Given the description of an element on the screen output the (x, y) to click on. 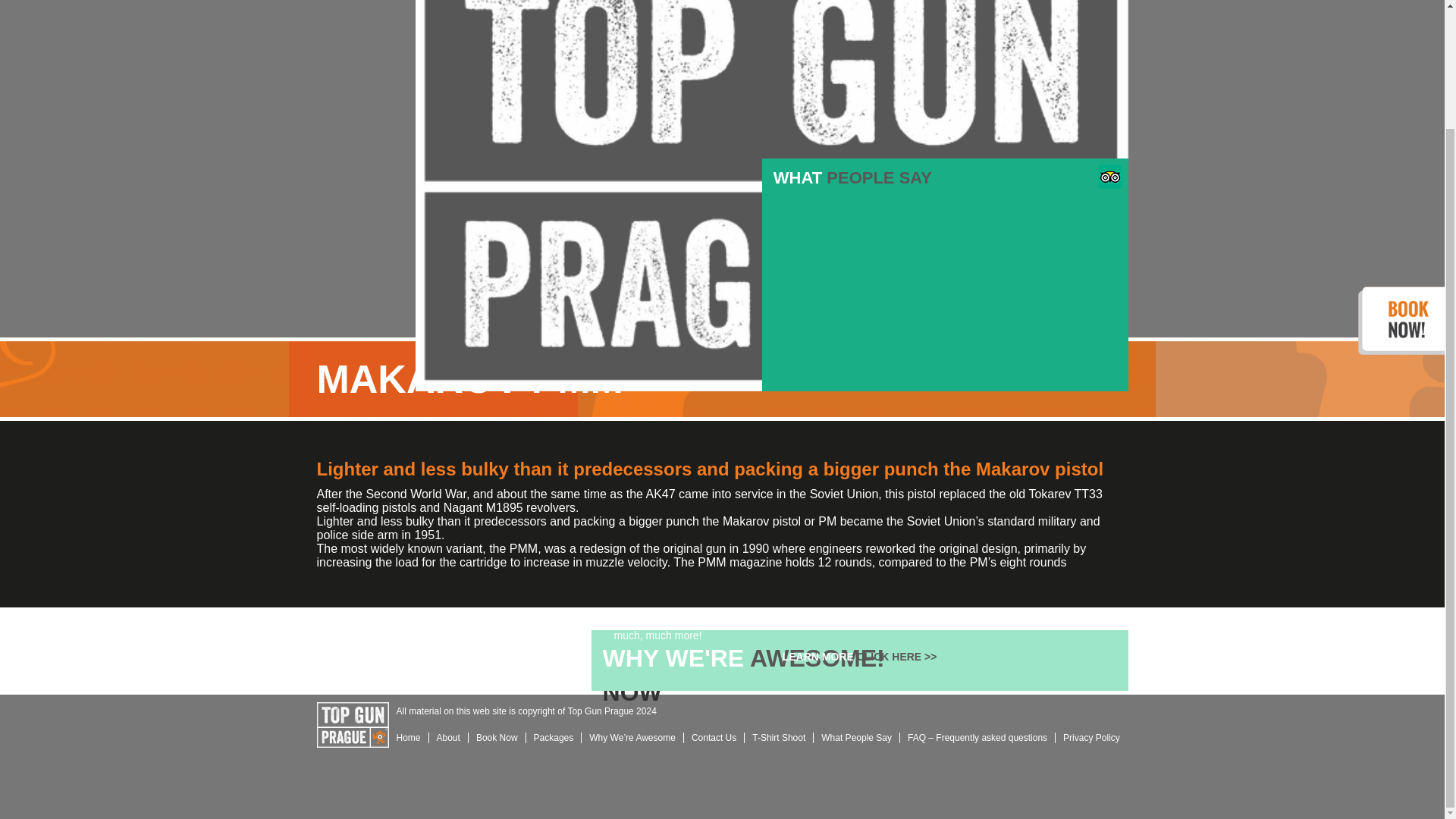
Packages (553, 737)
T-Shirt Shoot (778, 737)
Read traveller reviews on Tripadvisor (1109, 184)
Allow cookies to read reviews from TripAdvisor (854, 654)
Book Now (859, 650)
Book Now (496, 737)
About (448, 737)
Contact Us (714, 737)
BOOK NOW (944, 274)
Privacy Policy (1090, 737)
What People Say (856, 737)
Home (408, 737)
Book Now (944, 274)
The shooting event specialists (352, 726)
